Given the description of an element on the screen output the (x, y) to click on. 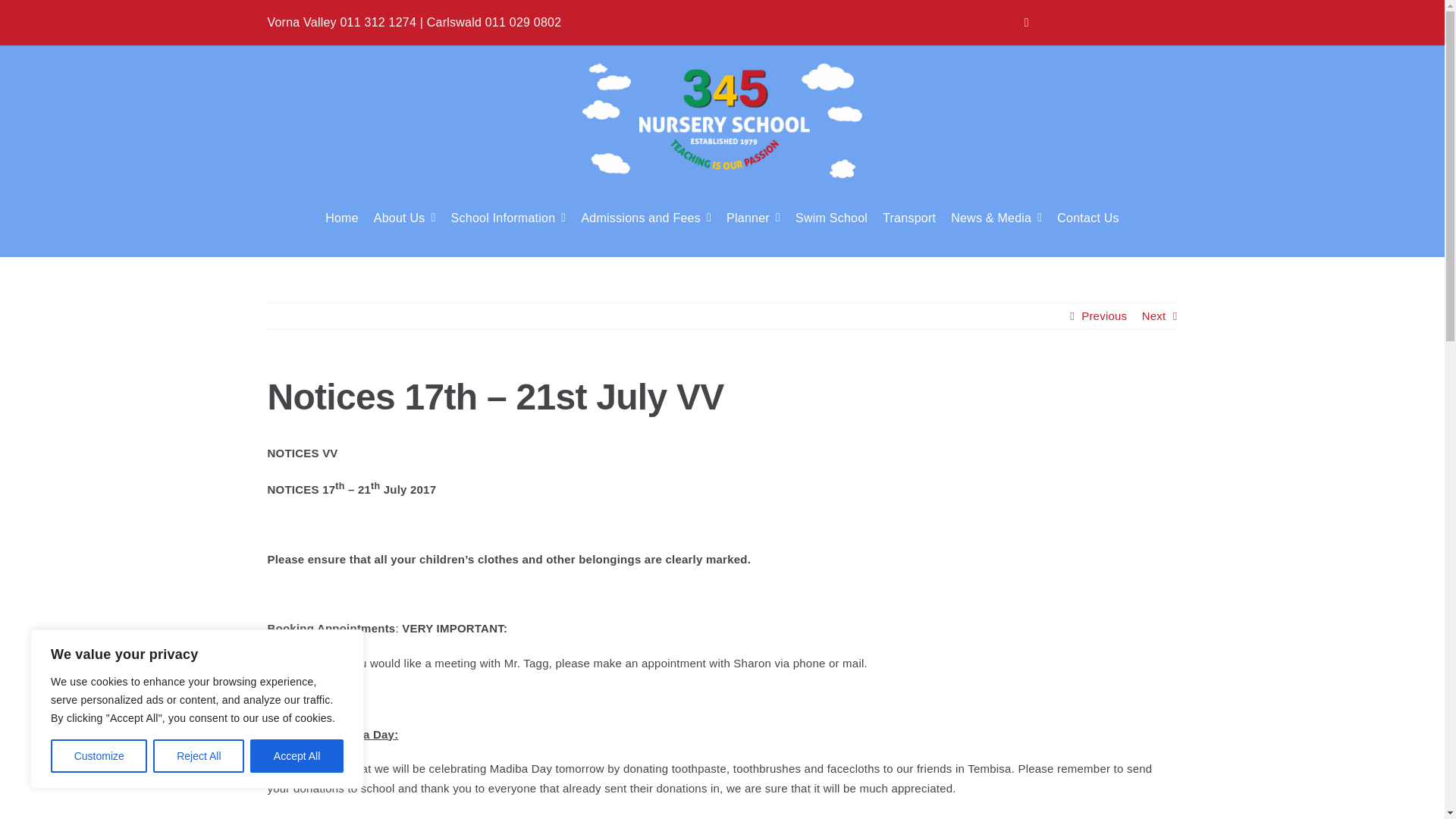
011 312 1274 (377, 21)
School Information (508, 217)
Accept All (296, 756)
Planner (753, 217)
Customize (98, 756)
Swim School (830, 217)
Reject All (198, 756)
Admissions and Fees (645, 217)
011 029 0802 (523, 21)
About Us (404, 217)
